Given the description of an element on the screen output the (x, y) to click on. 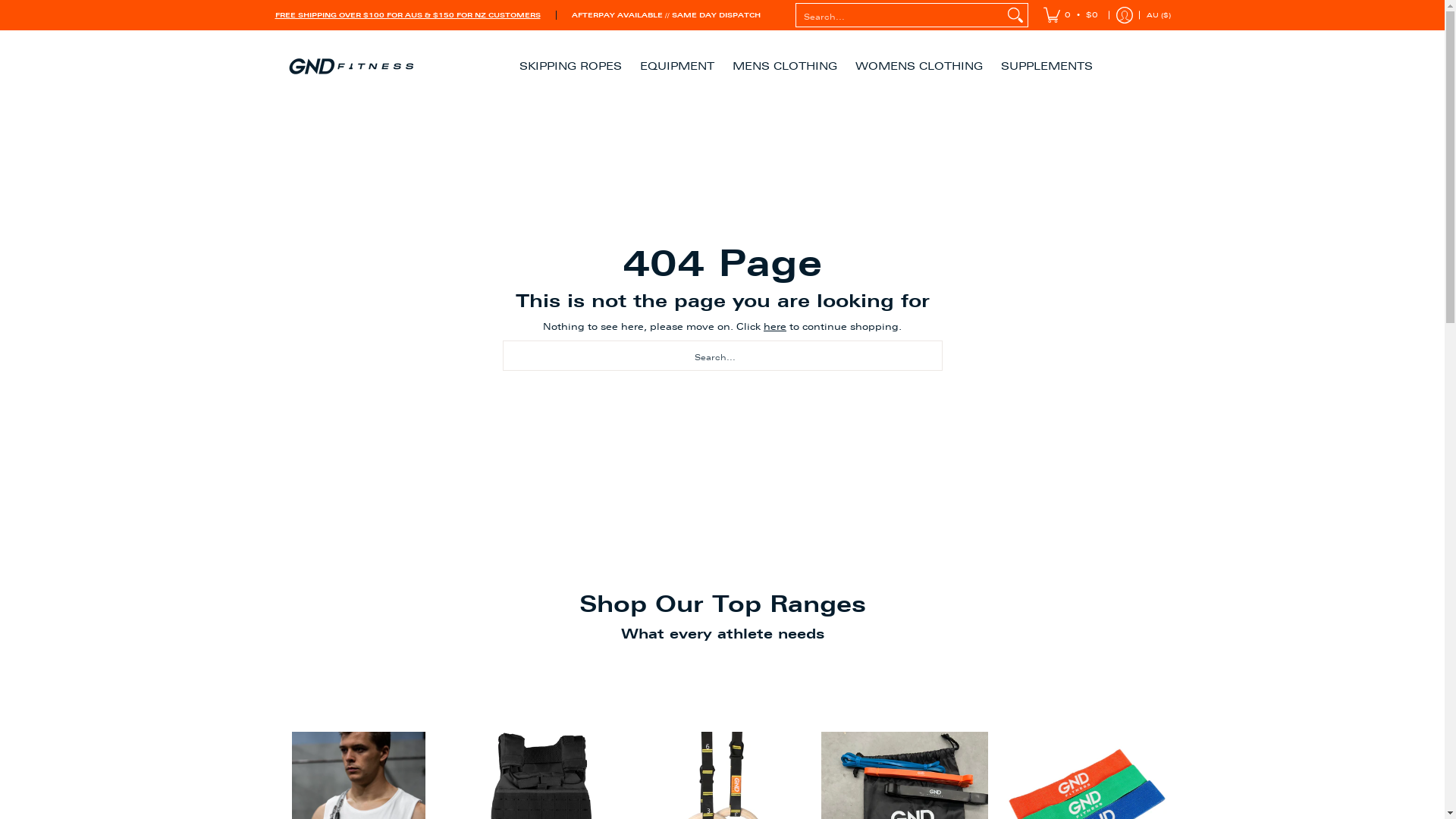
FREE SHIPPING OVER $100 FOR AUS & $150 FOR NZ CUSTOMERS Element type: text (406, 14)
SUPPLEMENTS Element type: text (1046, 66)
GND Fitness Element type: hover (350, 66)
CD Element type: text (1006, 383)
GQ Element type: text (1005, 787)
KY Element type: text (1001, 114)
CZ Element type: text (984, 572)
CW Element type: text (982, 517)
CV Element type: text (990, 60)
BQ Element type: text (1016, 86)
EG Element type: text (980, 732)
DO Element type: text (1010, 679)
TD Element type: text (977, 167)
CX Element type: text (1003, 249)
KM Element type: text (986, 329)
CA Element type: text (981, 33)
CY Element type: text (980, 544)
EC Element type: text (983, 706)
AU ($) Element type: text (1157, 15)
CI Element type: text (994, 464)
CC Element type: text (1017, 275)
SV Element type: text (989, 760)
DJ Element type: text (985, 625)
MENS CLOTHING Element type: text (784, 66)
HR Element type: text (980, 490)
CR Element type: text (987, 437)
here Element type: text (774, 326)
CN Element type: text (977, 221)
DK Element type: text (986, 598)
SKIPPING ROPES Element type: text (569, 66)
Skip to Main Content Element type: text (1, 9)
EQUIPMENT Element type: text (676, 66)
CK Element type: text (993, 409)
CF Element type: text (1021, 141)
CO Element type: text (985, 302)
DM Element type: text (985, 652)
Log in Element type: hover (1123, 15)
WOMENS CLOTHING Element type: text (918, 66)
CG Element type: text (1009, 356)
CL Element type: text (975, 194)
